Given the description of an element on the screen output the (x, y) to click on. 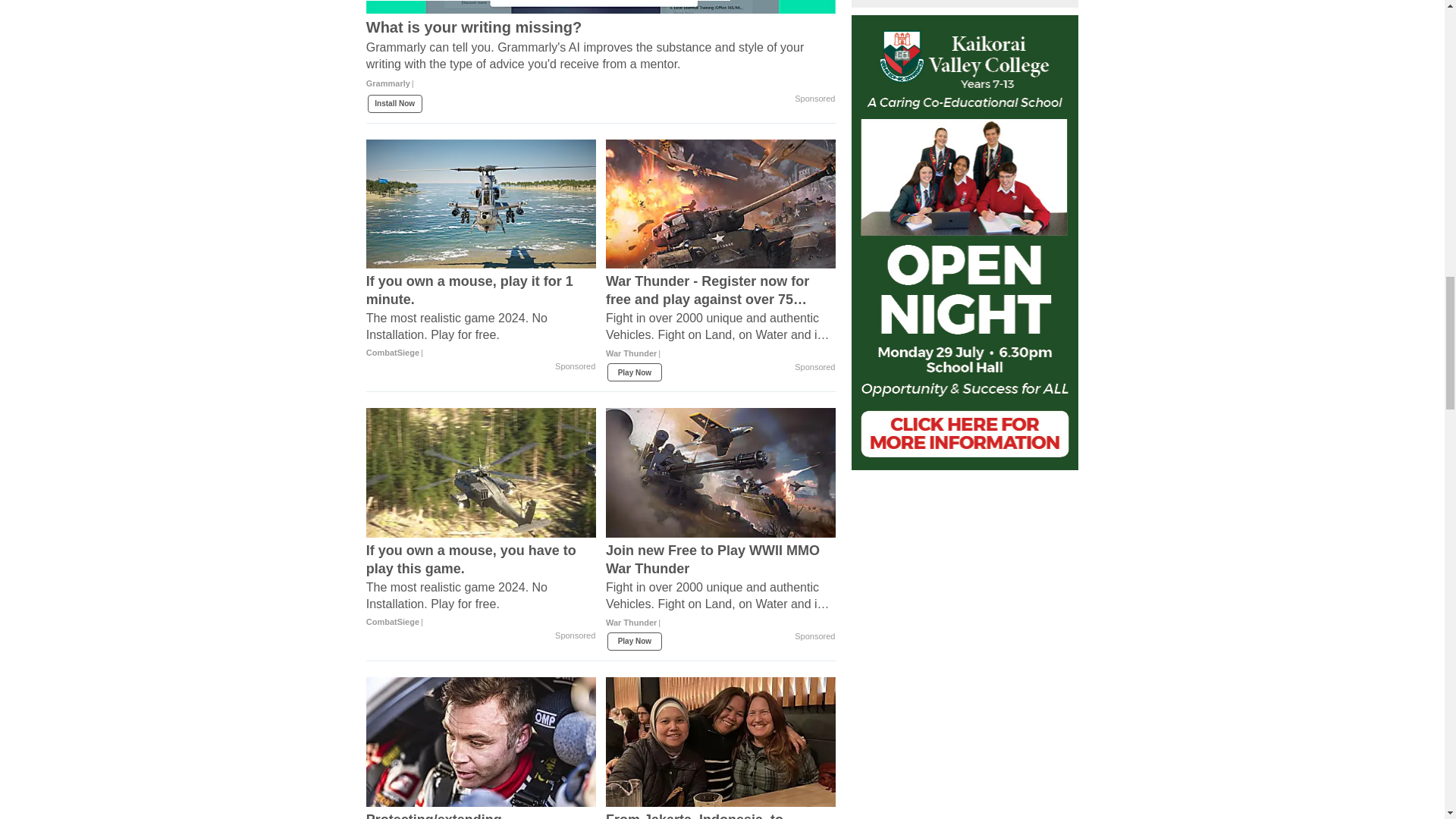
If you own a mouse, play it for 1 minute. (481, 316)
What is your writing missing? (600, 60)
